Given the description of an element on the screen output the (x, y) to click on. 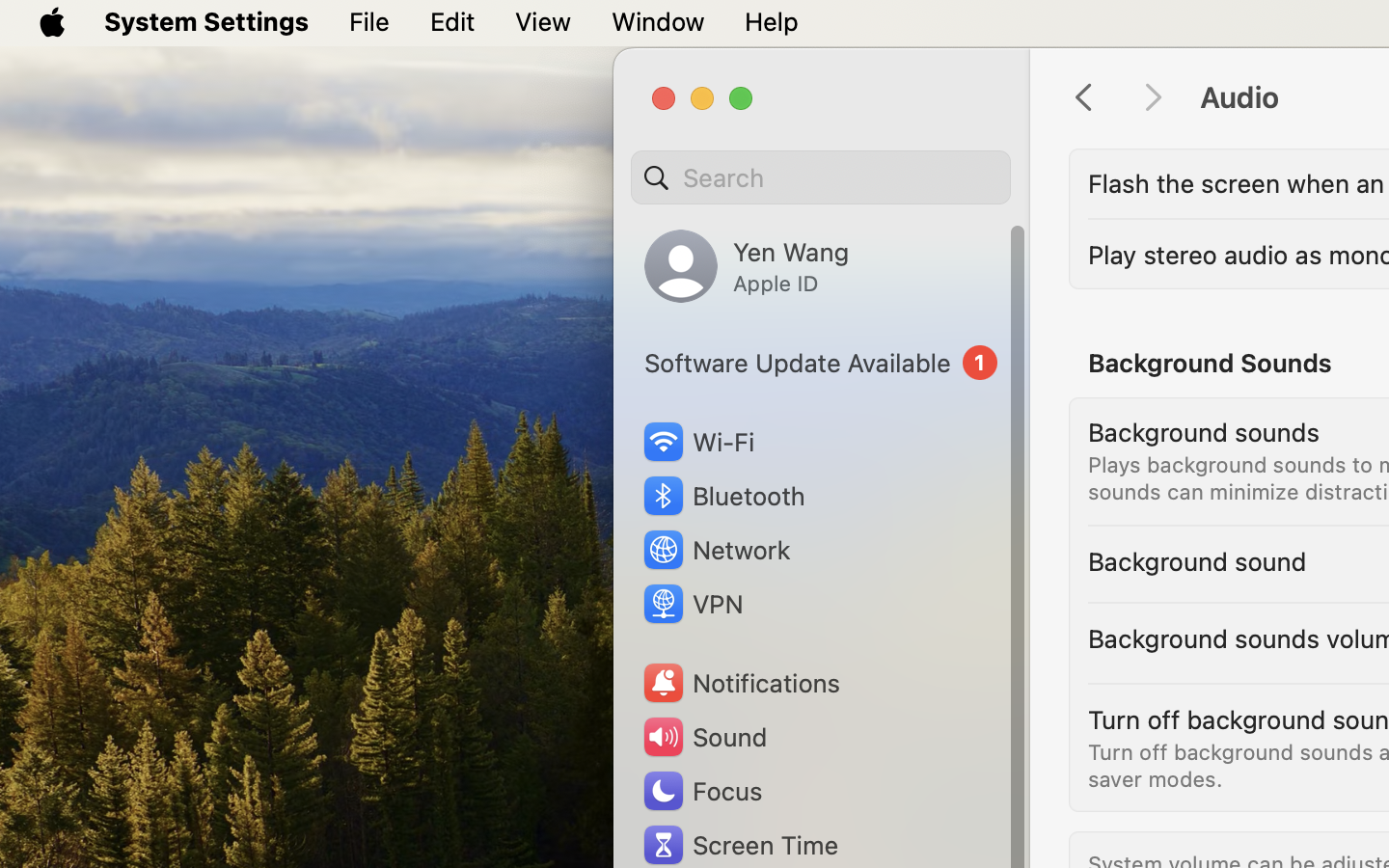
Background sounds Element type: AXStaticText (1203, 431)
Screen Time Element type: AXStaticText (739, 844)
